Given the description of an element on the screen output the (x, y) to click on. 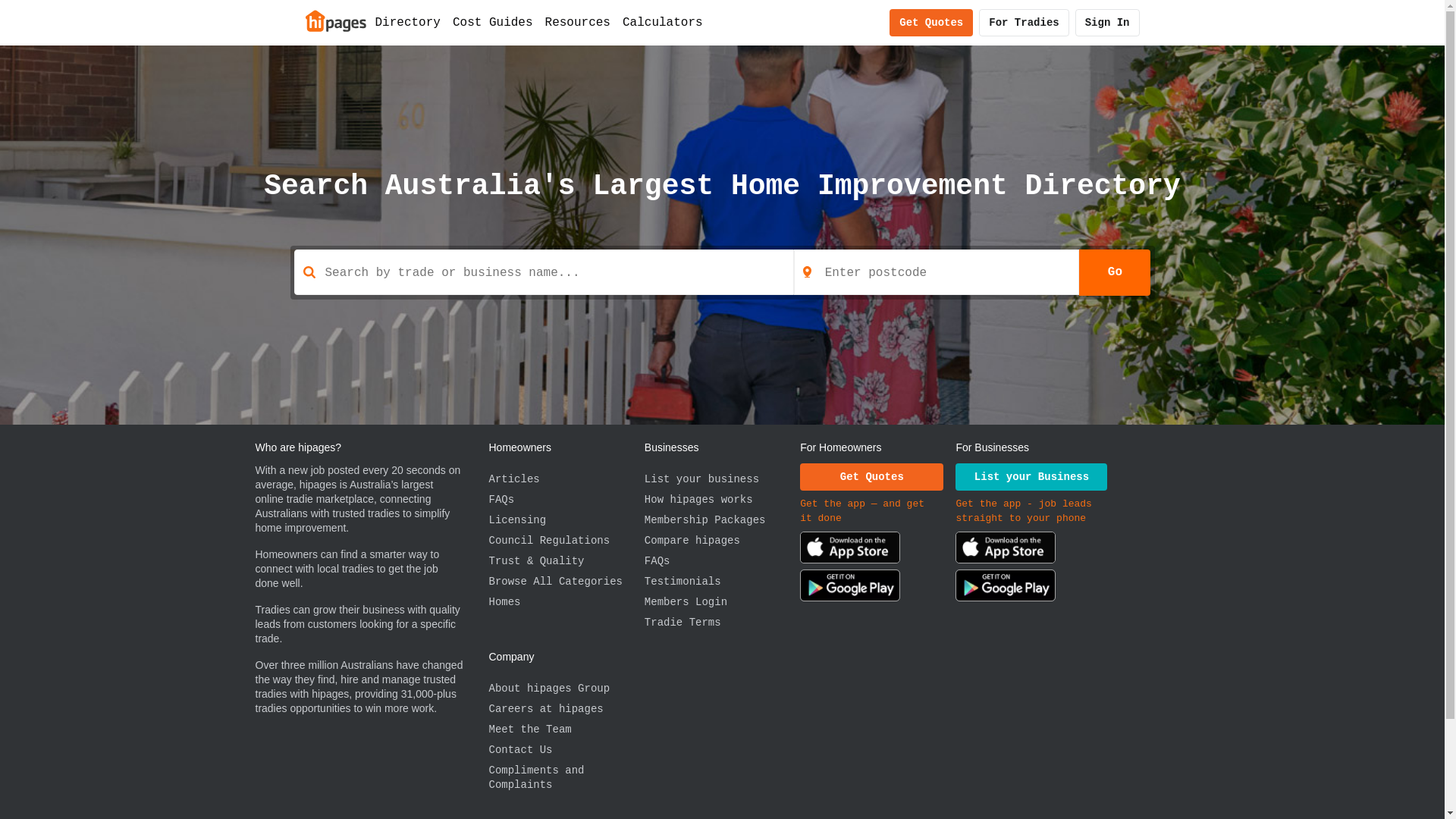
For Tradies Element type: text (1023, 22)
Contact Us Element type: text (565, 750)
Licensing Element type: text (565, 520)
Articles Element type: text (565, 479)
Browse All Categories Element type: text (565, 581)
Get Quotes Element type: text (871, 476)
Home Element type: hover (334, 20)
Homes Element type: text (565, 602)
About hipages Group Element type: text (565, 688)
Cost Guides Element type: text (492, 22)
Testimonials Element type: text (722, 581)
FAQs Element type: text (565, 499)
Go Element type: text (1114, 271)
Tradie Terms Element type: text (722, 622)
Directory Element type: text (406, 22)
Resources Element type: text (577, 22)
Sign In Element type: text (1107, 22)
Get Quotes Element type: text (930, 22)
Download the hipages app on Google Play Element type: hover (850, 588)
Careers at hipages Element type: text (565, 709)
Trust & Quality Element type: text (565, 561)
Download the hipages app on the App Store Element type: hover (850, 550)
Compliments and Complaints Element type: text (565, 777)
Members Login Element type: text (722, 602)
Council Regulations Element type: text (565, 540)
Membership Packages Element type: text (722, 520)
Download the hipages app on the App Store Element type: hover (1005, 550)
FAQs Element type: text (722, 561)
List your Business Element type: text (1031, 476)
How hipages works Element type: text (722, 499)
Download the hipages app on Google Play Element type: hover (1005, 588)
Meet the Team Element type: text (565, 729)
Compare hipages Element type: text (722, 540)
Calculators Element type: text (662, 22)
List your business Element type: text (722, 479)
